Given the description of an element on the screen output the (x, y) to click on. 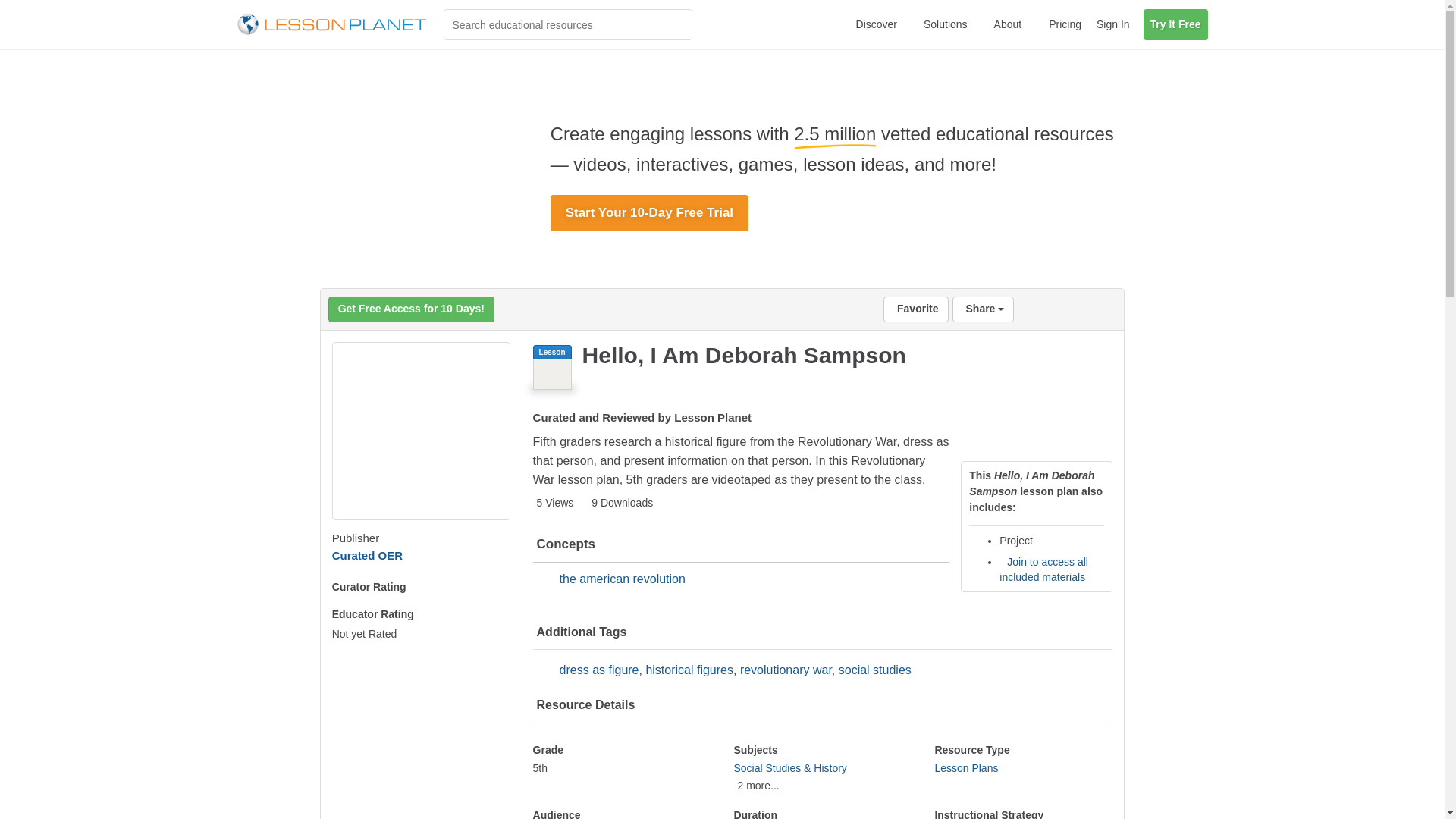
Share (983, 309)
Search (676, 24)
social studies (874, 669)
Sign In (1113, 24)
Get Free Access for 10 Days! (412, 309)
the american revolution (622, 578)
revolutionary war (785, 669)
Favorite (915, 309)
dress as figure (599, 669)
Pricing (1065, 24)
historical figures (689, 669)
Join to access all included materials (1042, 569)
Curated OER (367, 554)
Grade (621, 768)
Try It Free (1175, 24)
